Given the description of an element on the screen output the (x, y) to click on. 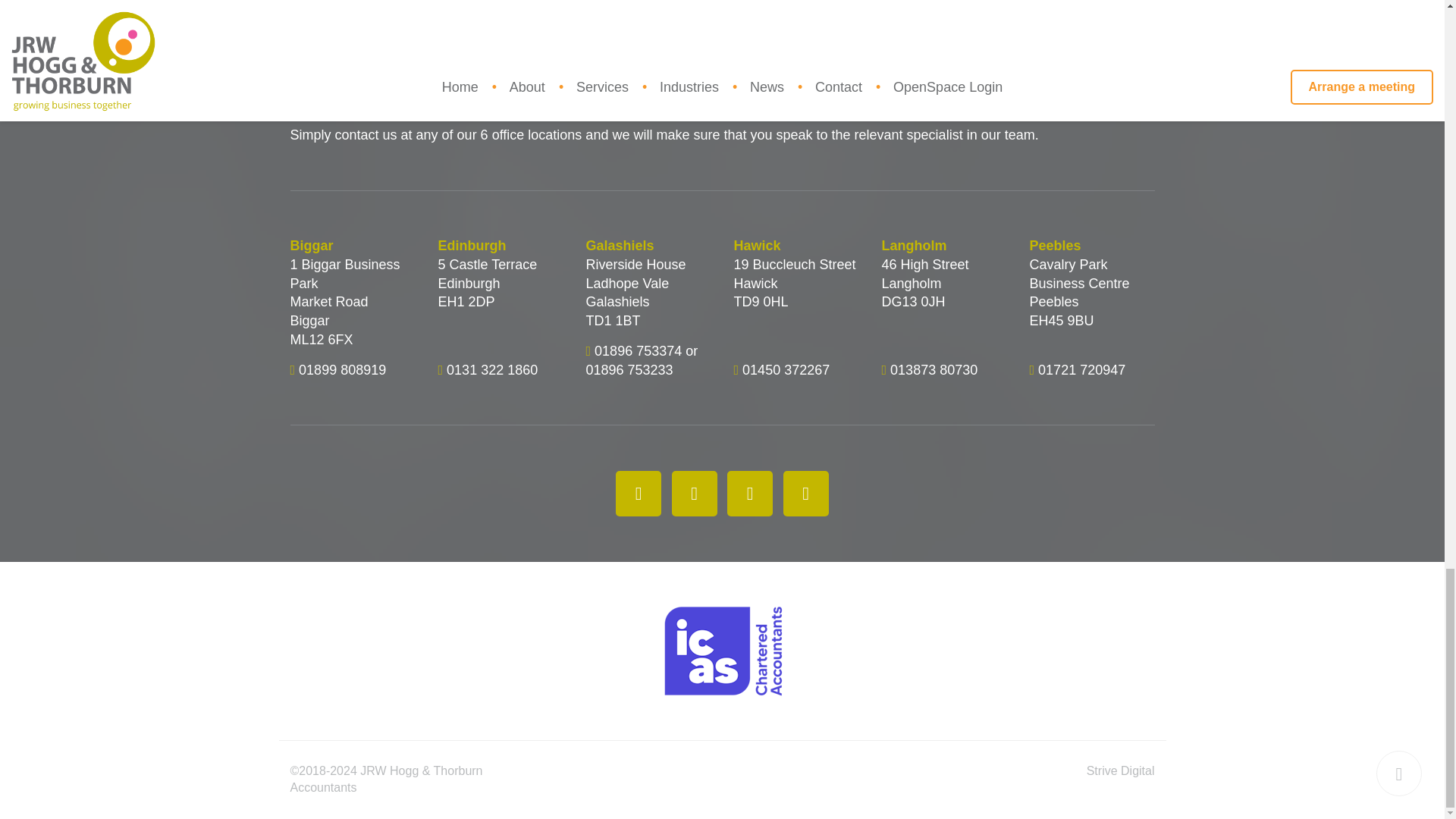
Edinburgh (500, 245)
01896 753374 or 01896 753233 (641, 360)
01450 372267 (785, 368)
Biggar (351, 245)
0131 322 1860 (491, 368)
Sign Up (1325, 3)
Galashiels (647, 245)
01899 808919 (341, 368)
Hawick (796, 245)
